Given the description of an element on the screen output the (x, y) to click on. 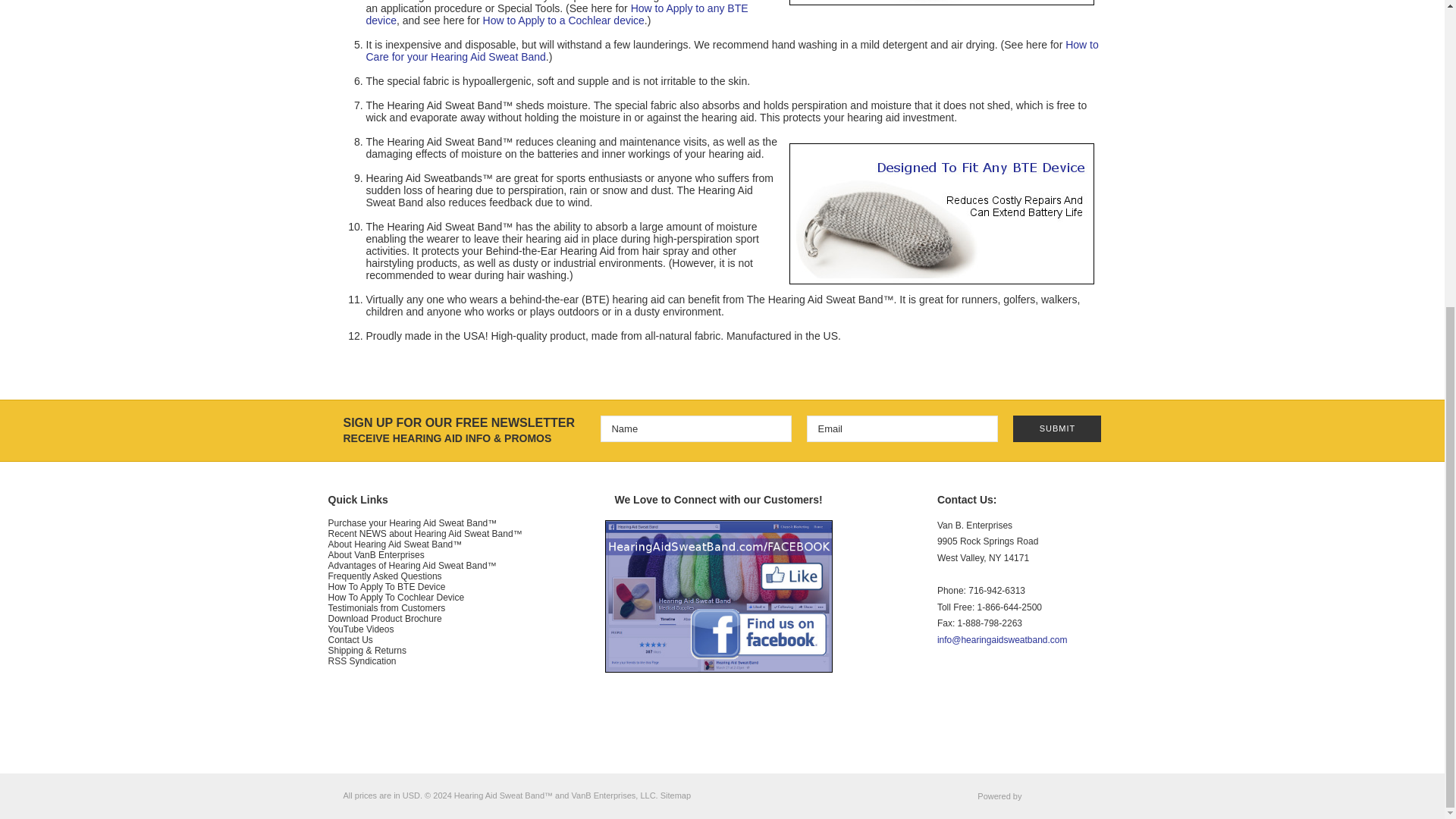
Facebook (946, 718)
How to Care for your Hearing Aid Sweat Band (731, 50)
Submit (1056, 428)
YouTube (972, 718)
Name (695, 428)
Email (901, 428)
US Dollars (411, 795)
